Given the description of an element on the screen output the (x, y) to click on. 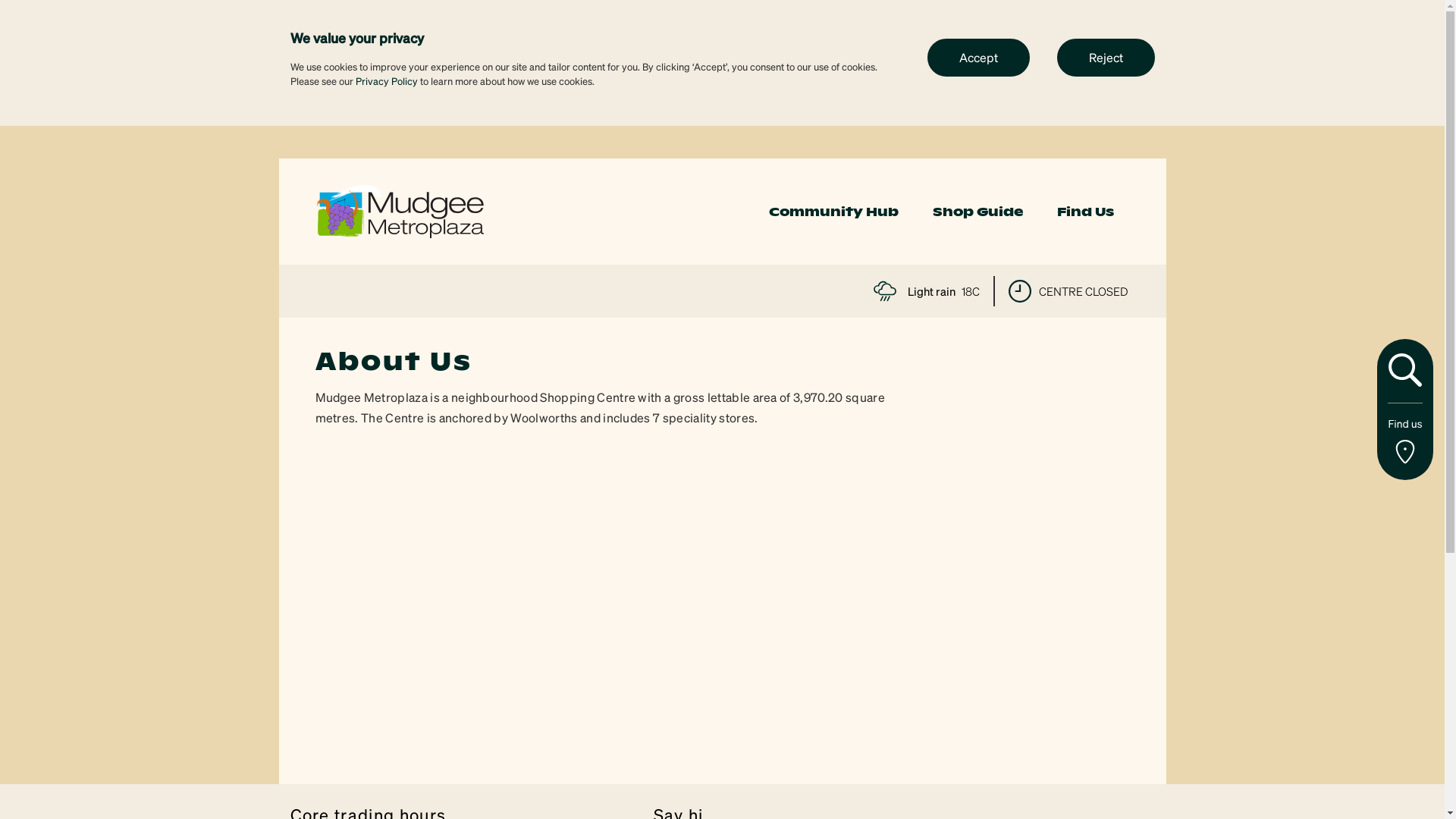
CENTRE CLOSED Element type: text (1068, 290)
Reject Element type: text (1105, 56)
Community Hub Element type: text (833, 211)
Accept Element type: text (977, 56)
time Element type: hover (1019, 290)
Shop Guide Element type: text (977, 211)
Find Us Element type: text (1085, 211)
Privacy Policy Element type: text (385, 80)
